Given the description of an element on the screen output the (x, y) to click on. 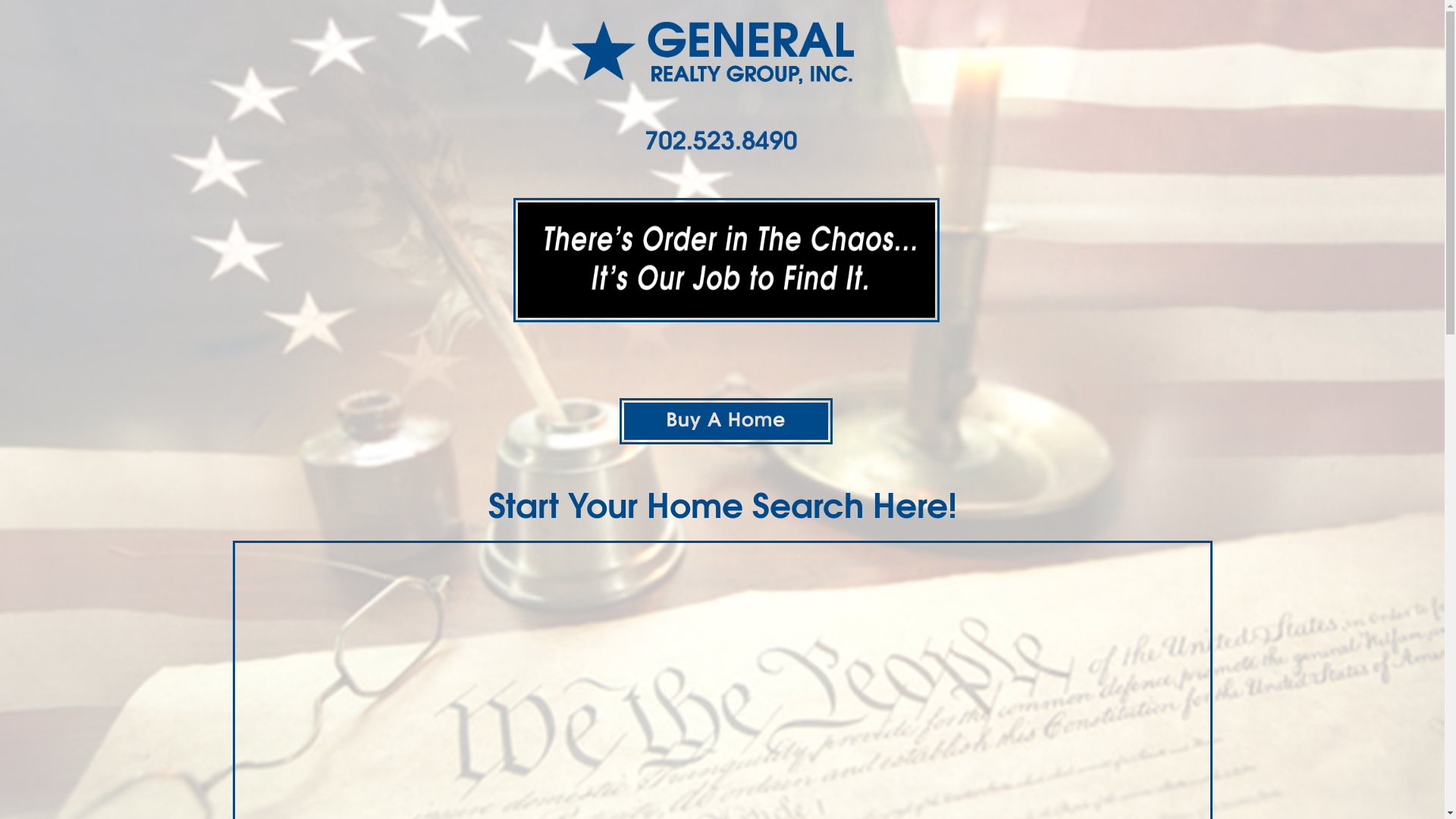
There's Order in the Chaos! Element type: hover (725, 259)
